Given the description of an element on the screen output the (x, y) to click on. 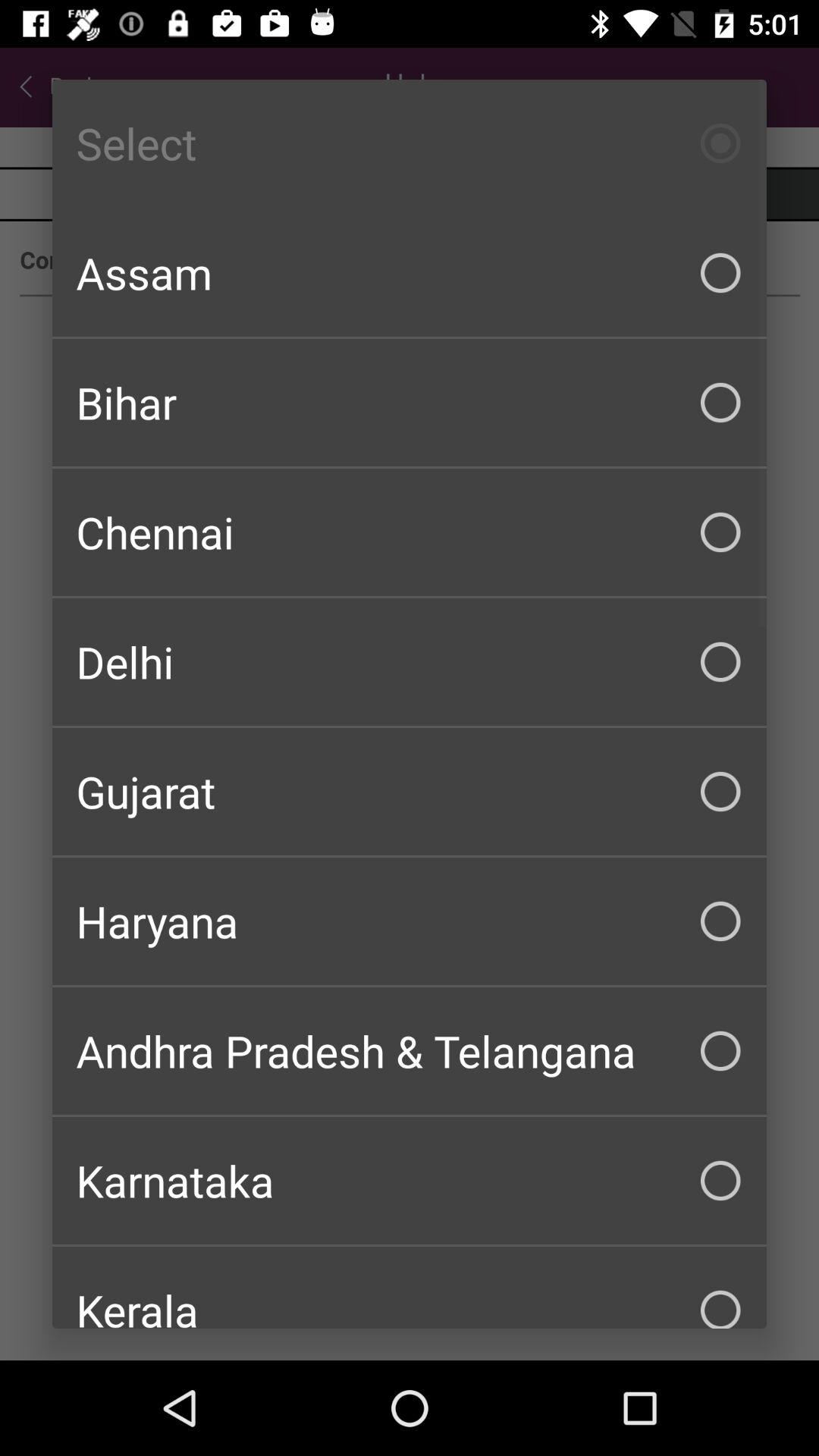
scroll to the haryana checkbox (409, 921)
